Given the description of an element on the screen output the (x, y) to click on. 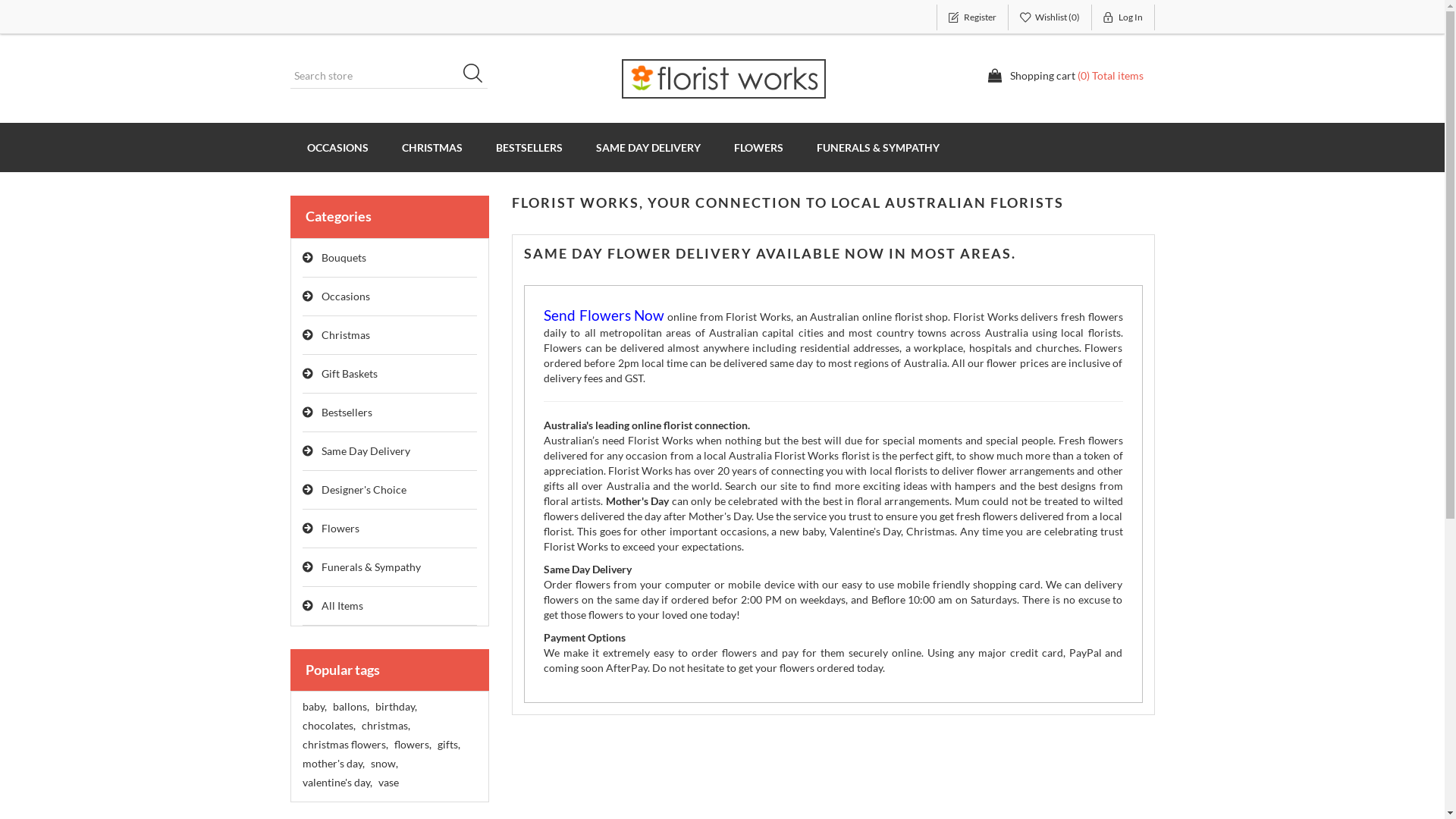
BESTSELLERS Element type: text (529, 147)
vase Element type: text (387, 782)
FLOWERS Element type: text (758, 147)
Wishlist (0) Element type: text (1050, 17)
Send Flowers Now Element type: text (603, 316)
christmas, Element type: text (384, 725)
CHRISTMAS Element type: text (432, 147)
mother's day, Element type: text (332, 763)
Gift Baskets Element type: text (388, 373)
Bestsellers Element type: text (388, 412)
flowers, Element type: text (412, 744)
Occasions Element type: text (388, 296)
snow, Element type: text (383, 763)
SAME DAY DELIVERY Element type: text (648, 147)
FUNERALS & SYMPATHY Element type: text (877, 147)
Christmas Element type: text (388, 335)
christmas flowers, Element type: text (344, 744)
birthday, Element type: text (395, 706)
chocolates, Element type: text (327, 725)
All Items Element type: text (388, 605)
Register Element type: text (971, 17)
Bouquets Element type: text (388, 257)
Log In Element type: text (1123, 17)
gifts, Element type: text (447, 744)
valentine's day, Element type: text (336, 782)
Designer's Choice Element type: text (388, 489)
Flowers Element type: text (388, 528)
Shopping cart (0) Total items Element type: text (1065, 75)
Same Day Delivery Element type: text (388, 451)
Funerals & Sympathy Element type: text (388, 567)
OCCASIONS Element type: text (336, 147)
baby, Element type: text (313, 706)
ballons, Element type: text (350, 706)
